Given the description of an element on the screen output the (x, y) to click on. 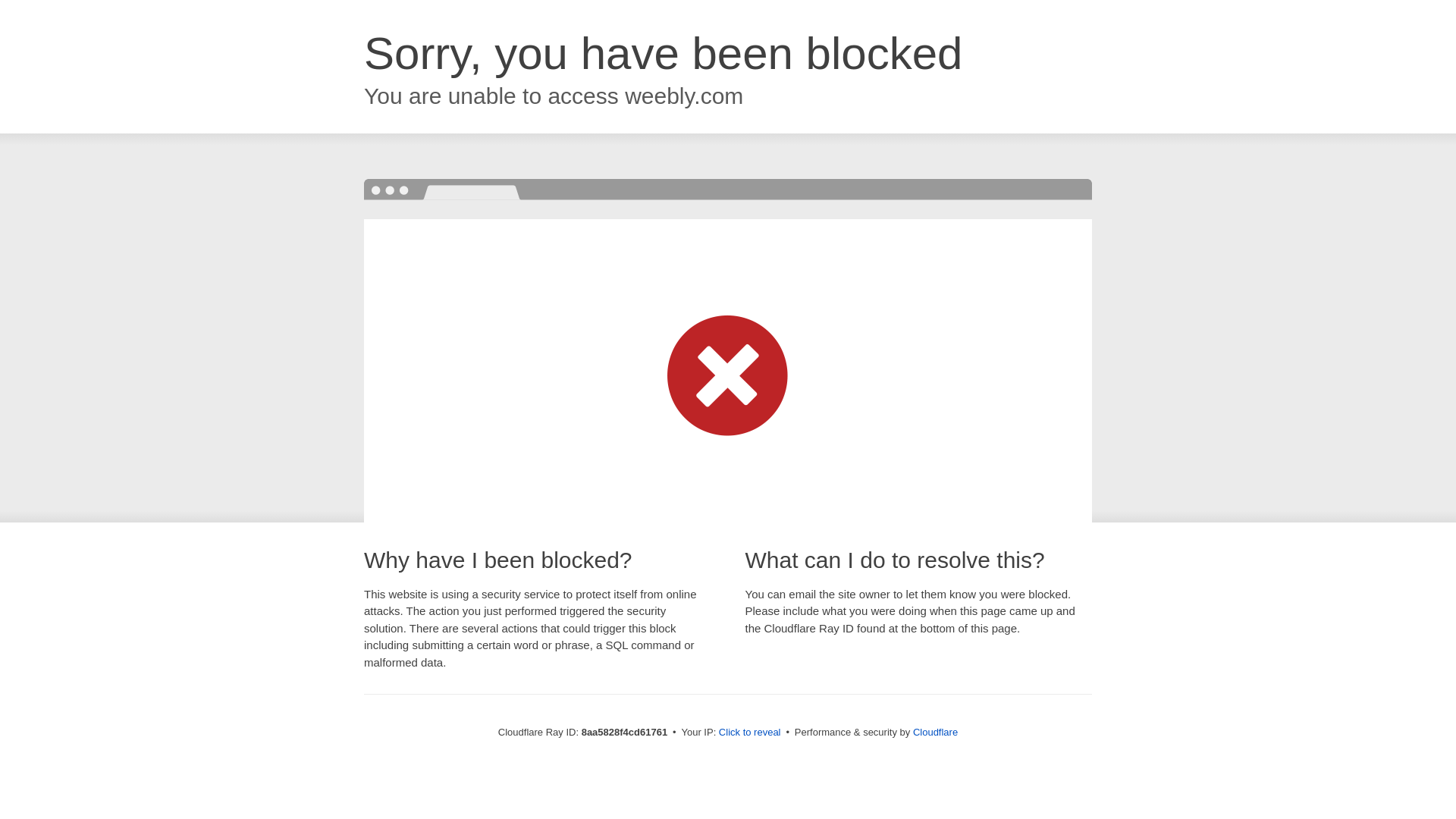
Click to reveal (749, 732)
Cloudflare (935, 731)
